Given the description of an element on the screen output the (x, y) to click on. 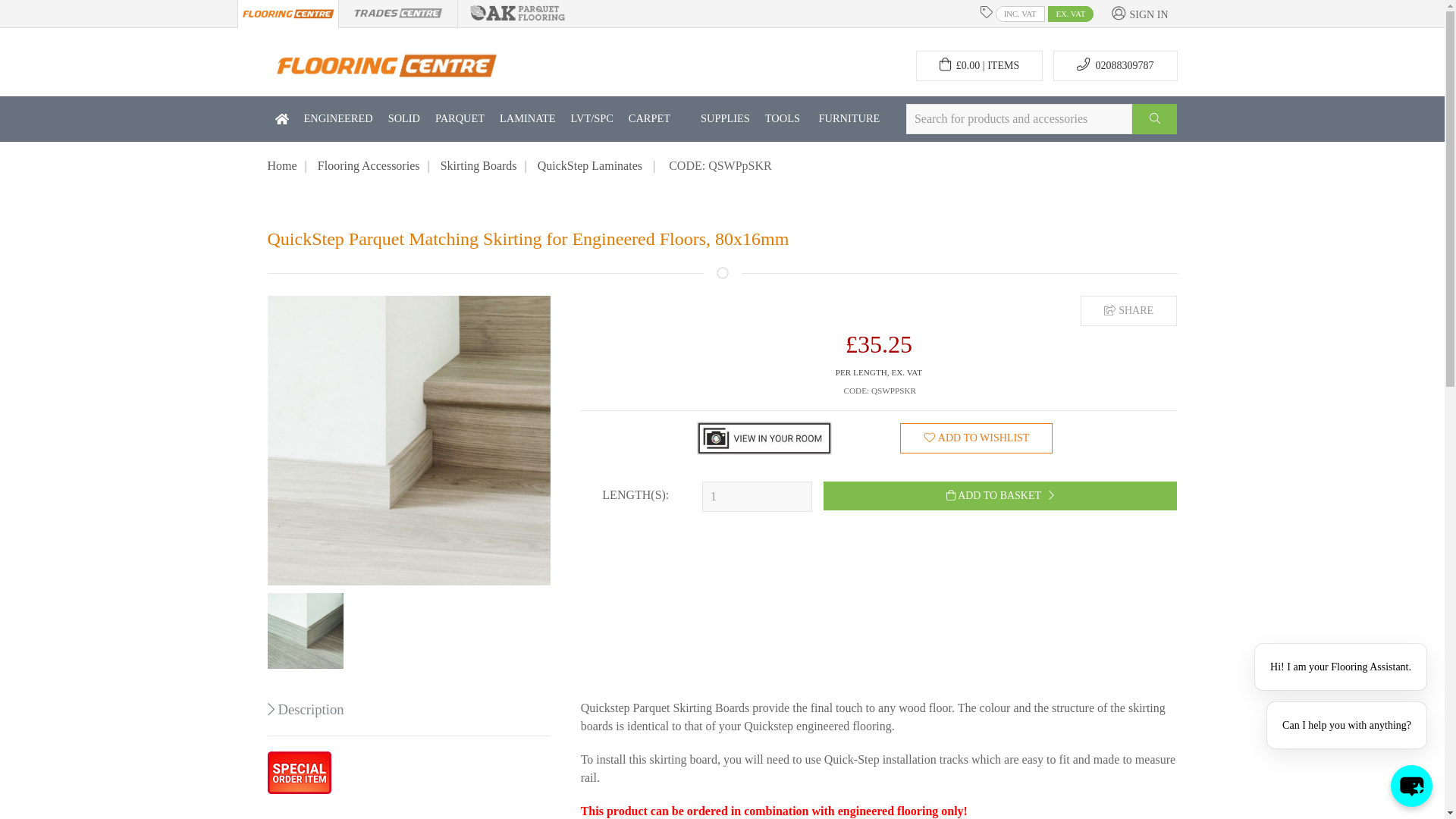
Oakparquetflooring (517, 11)
  02088309787 (1114, 65)
EX. VAT (1071, 13)
1 (756, 496)
oak parquet flooring website (517, 12)
trades centre website (396, 13)
ENGINEERED (337, 118)
SIGN IN (1139, 13)
Engineered flooring (337, 118)
INC. VAT (1020, 13)
